Given the description of an element on the screen output the (x, y) to click on. 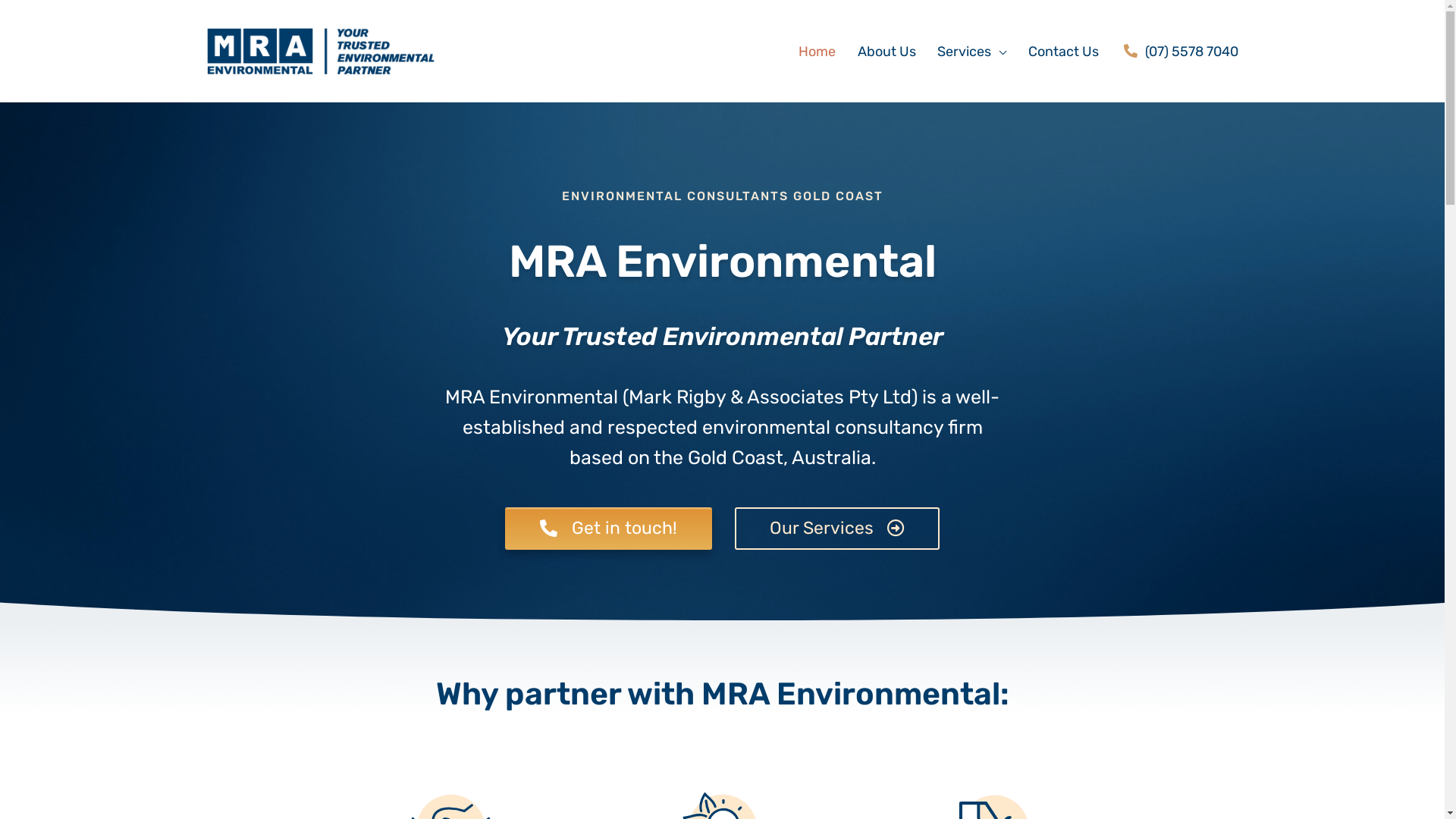
Services Element type: text (971, 50)
Get in touch! Element type: text (608, 528)
Home Element type: text (816, 50)
(07) 5578 7040 Element type: text (1180, 51)
Contact Us Element type: text (1063, 50)
Our Services Element type: text (836, 528)
About Us Element type: text (886, 50)
